Given the description of an element on the screen output the (x, y) to click on. 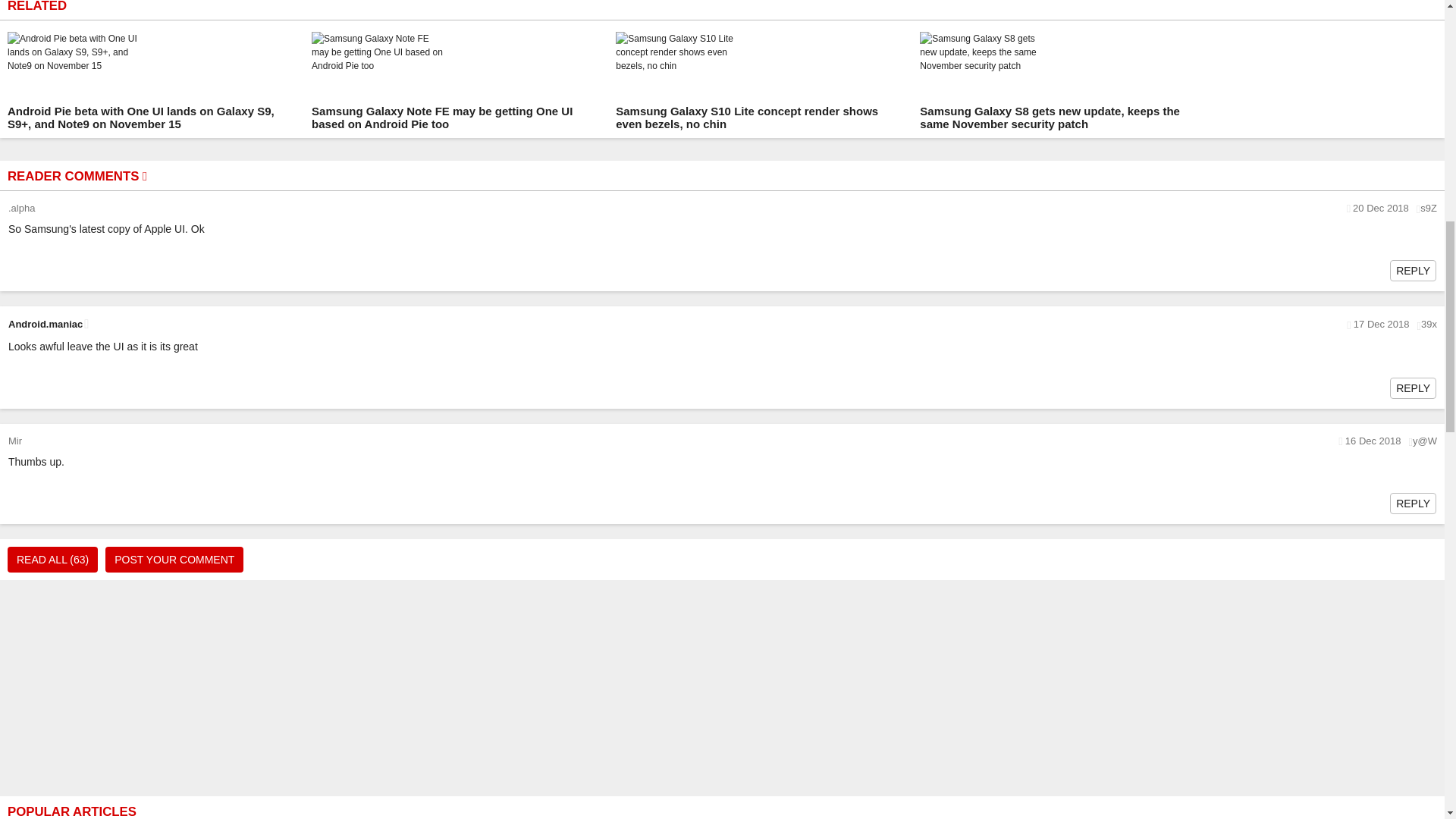
Reply to this post (1412, 270)
Encoded anonymized location (1429, 324)
Encoded anonymized location (1424, 441)
Encoded anonymized location (1429, 208)
Reply to this post (1412, 387)
Reply to this post (1412, 503)
